Given the description of an element on the screen output the (x, y) to click on. 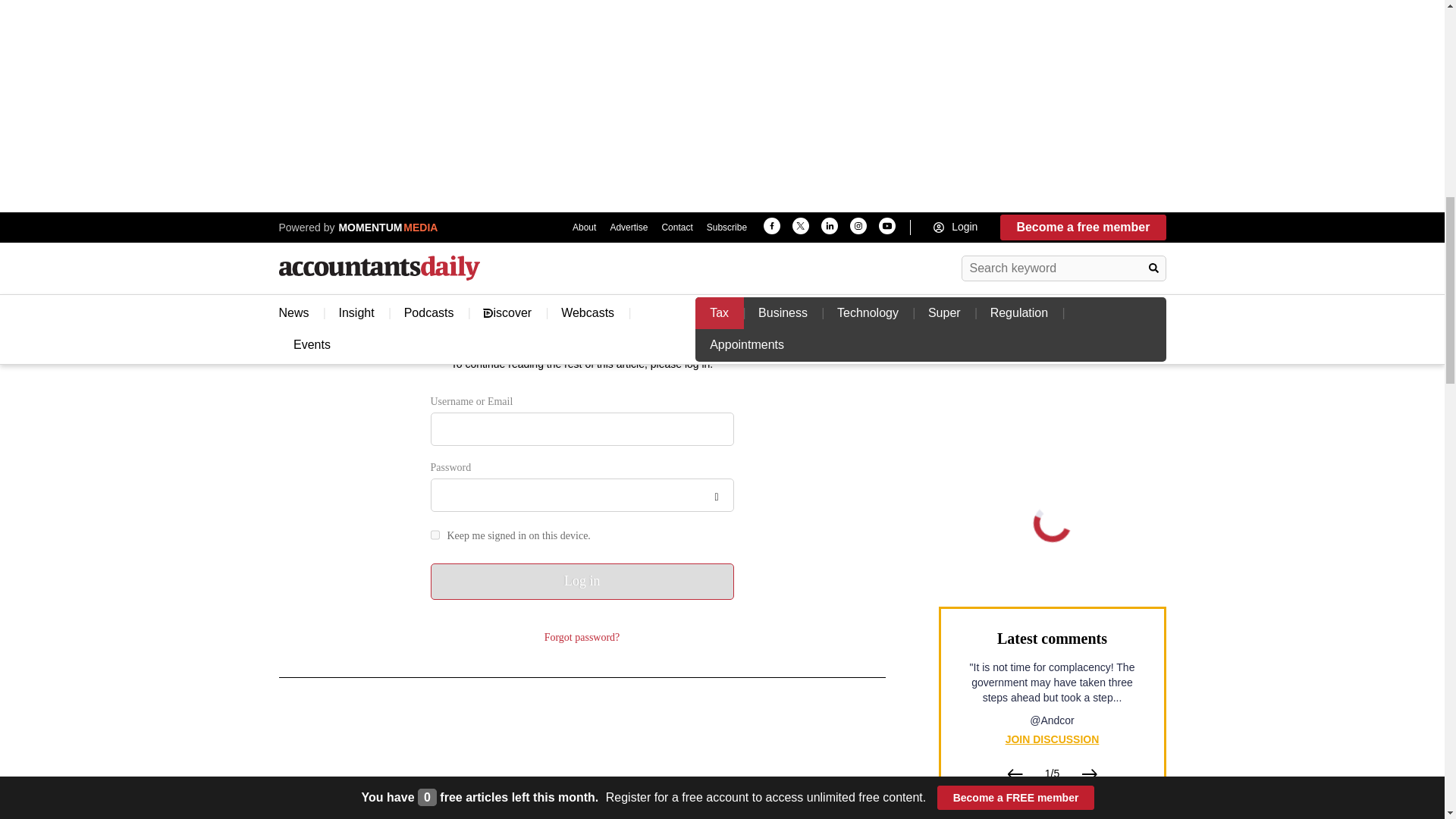
Log in (581, 581)
on (434, 534)
